Given the description of an element on the screen output the (x, y) to click on. 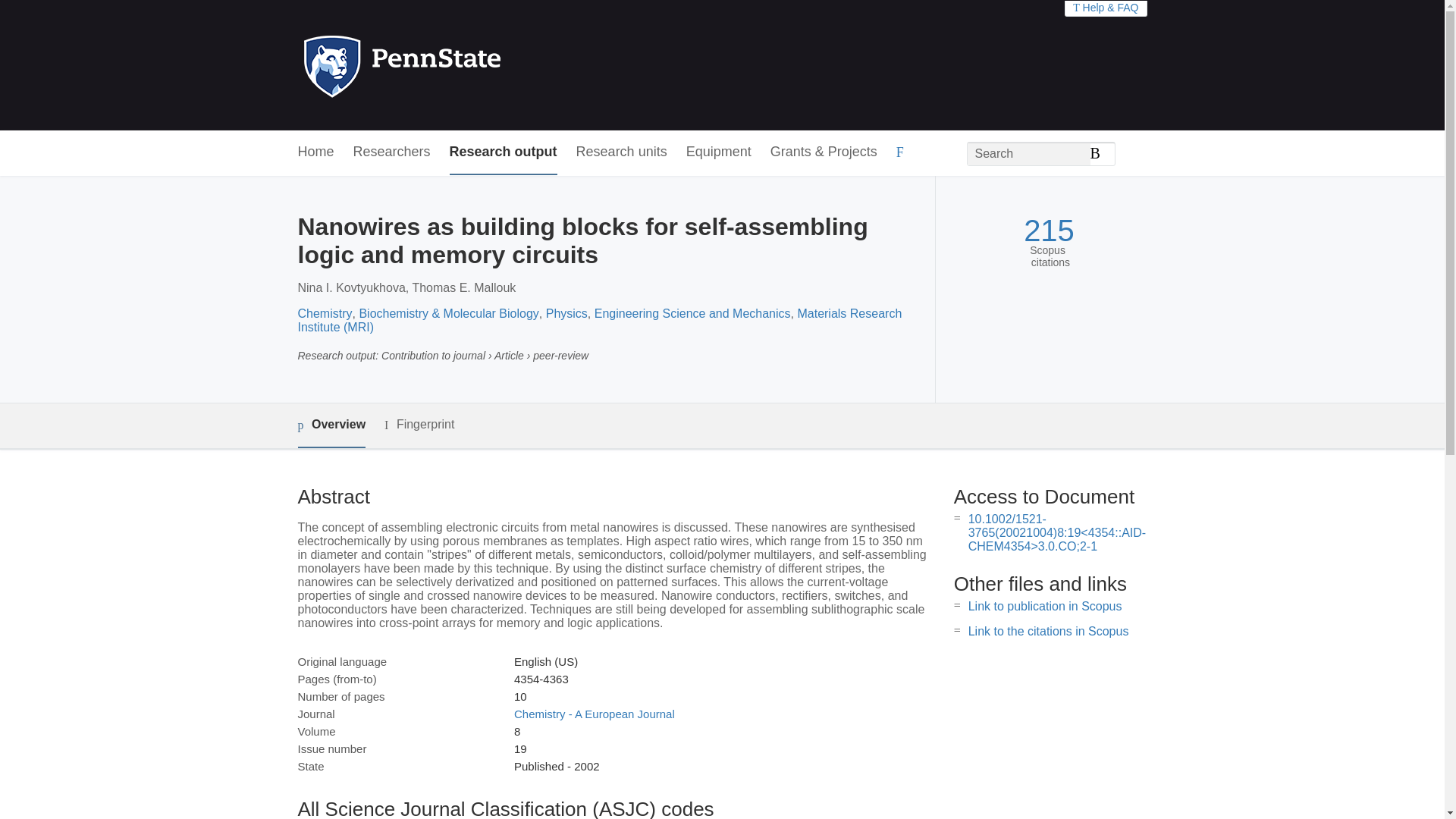
Link to the citations in Scopus (1048, 631)
215 (1048, 230)
Engineering Science and Mechanics (692, 313)
Equipment (718, 152)
Fingerprint (419, 424)
Overview (331, 425)
Researchers (391, 152)
Physics (567, 313)
Research output (503, 152)
Chemistry - A European Journal (594, 713)
